Given the description of an element on the screen output the (x, y) to click on. 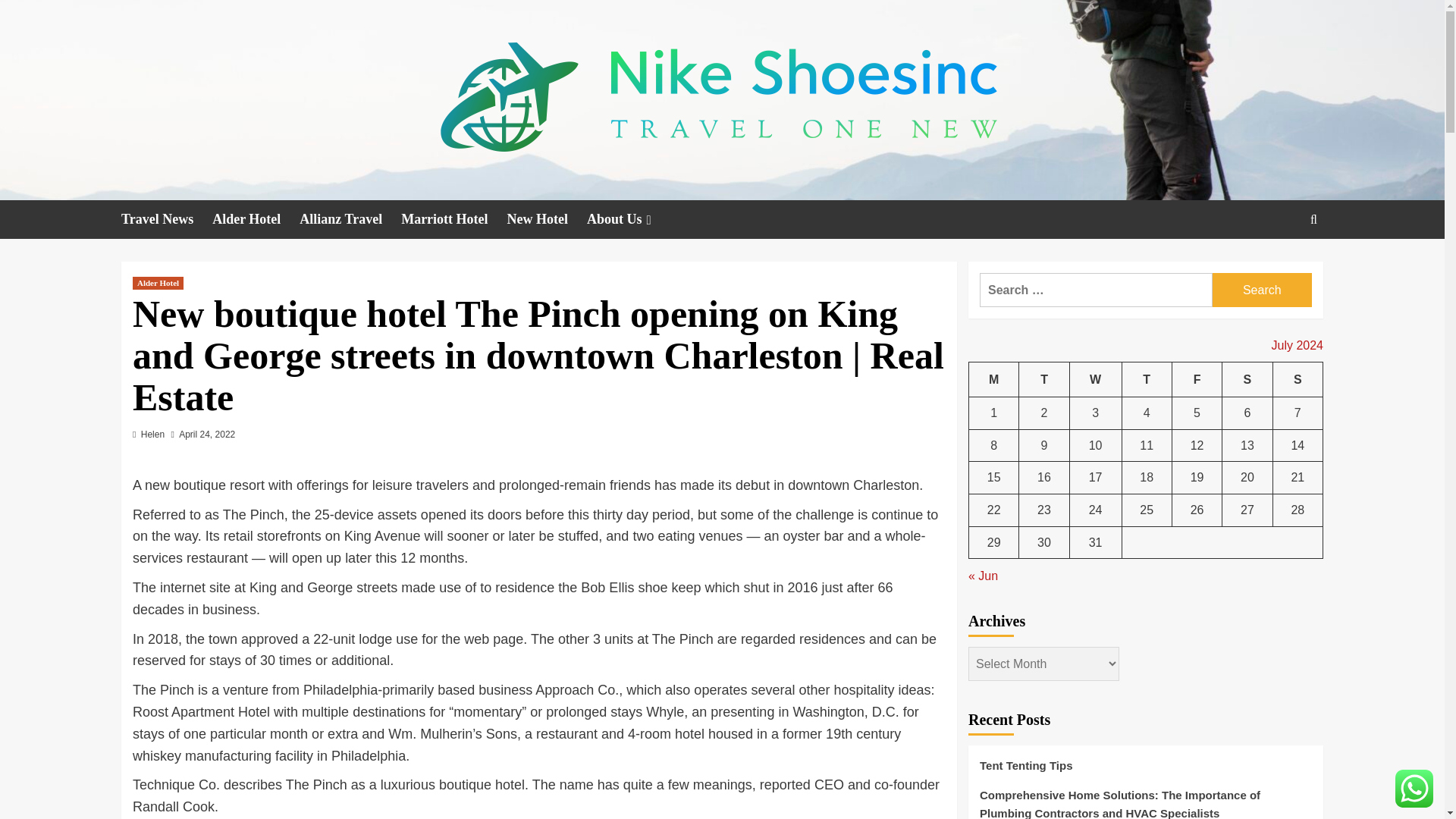
Tuesday (1043, 379)
Helen (152, 434)
New Hotel (546, 219)
Travel News (166, 219)
Marriott Hotel (453, 219)
About Us (630, 219)
Search (1313, 219)
Alder Hotel (255, 219)
Friday (1196, 379)
Allianz Travel (350, 219)
Thursday (1146, 379)
Sunday (1297, 379)
April 24, 2022 (206, 434)
Monday (994, 379)
Wednesday (1094, 379)
